Given the description of an element on the screen output the (x, y) to click on. 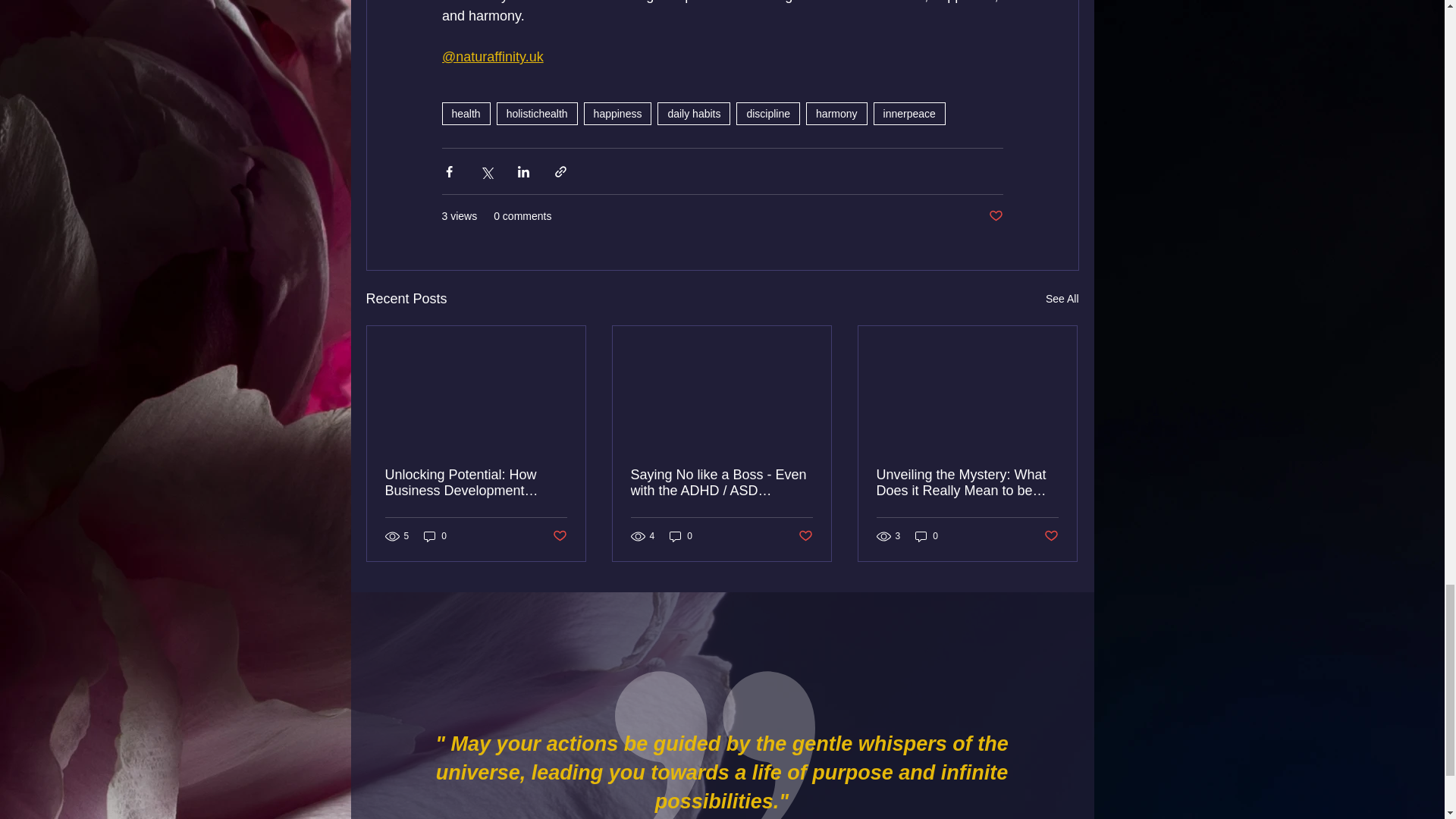
holistichealth (537, 113)
daily habits (694, 113)
health (465, 113)
happiness (617, 113)
discipline (767, 113)
Post not marked as liked (995, 216)
innerpeace (908, 113)
harmony (836, 113)
